Given the description of an element on the screen output the (x, y) to click on. 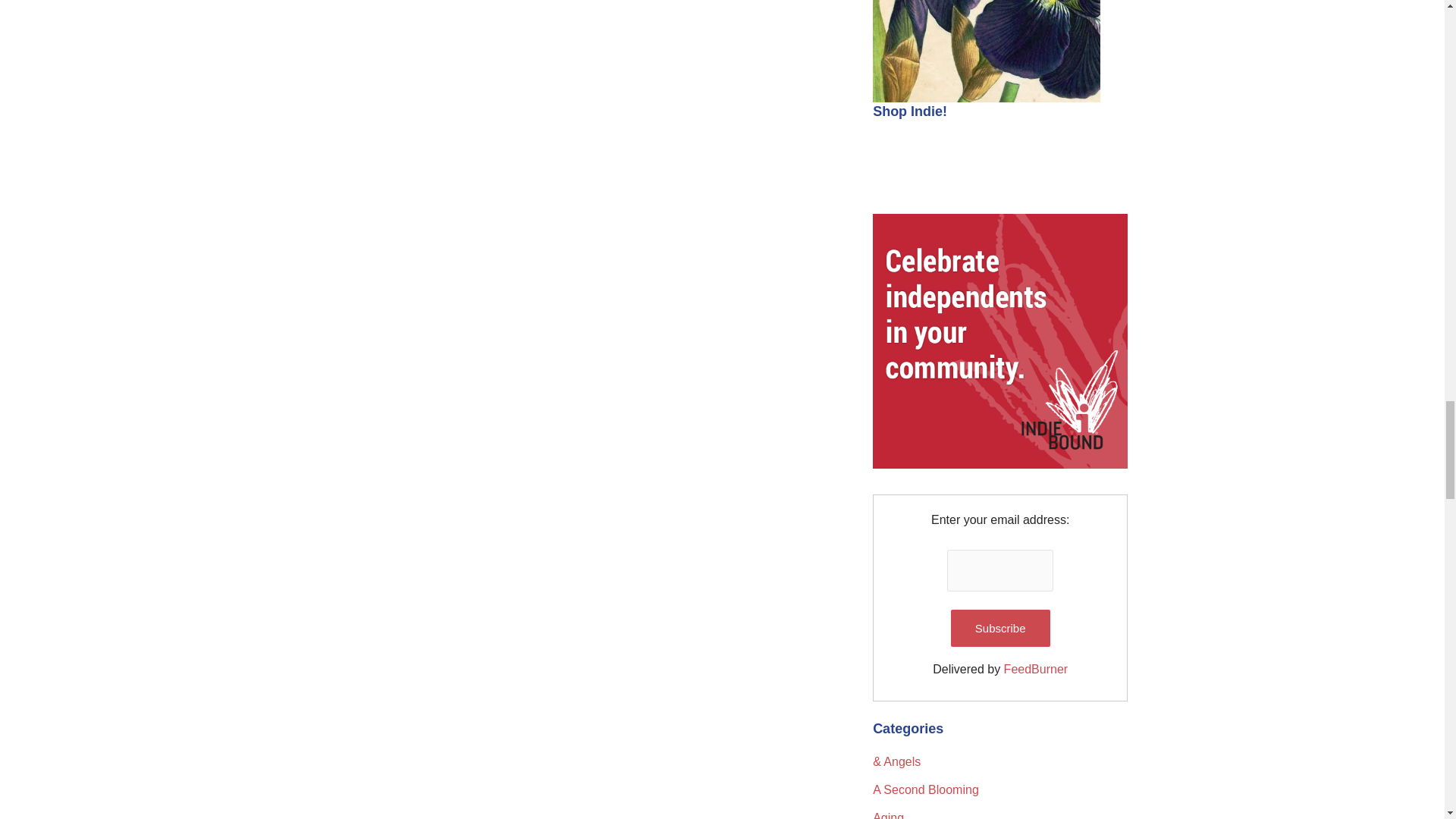
Subscribe (999, 628)
